Given the description of an element on the screen output the (x, y) to click on. 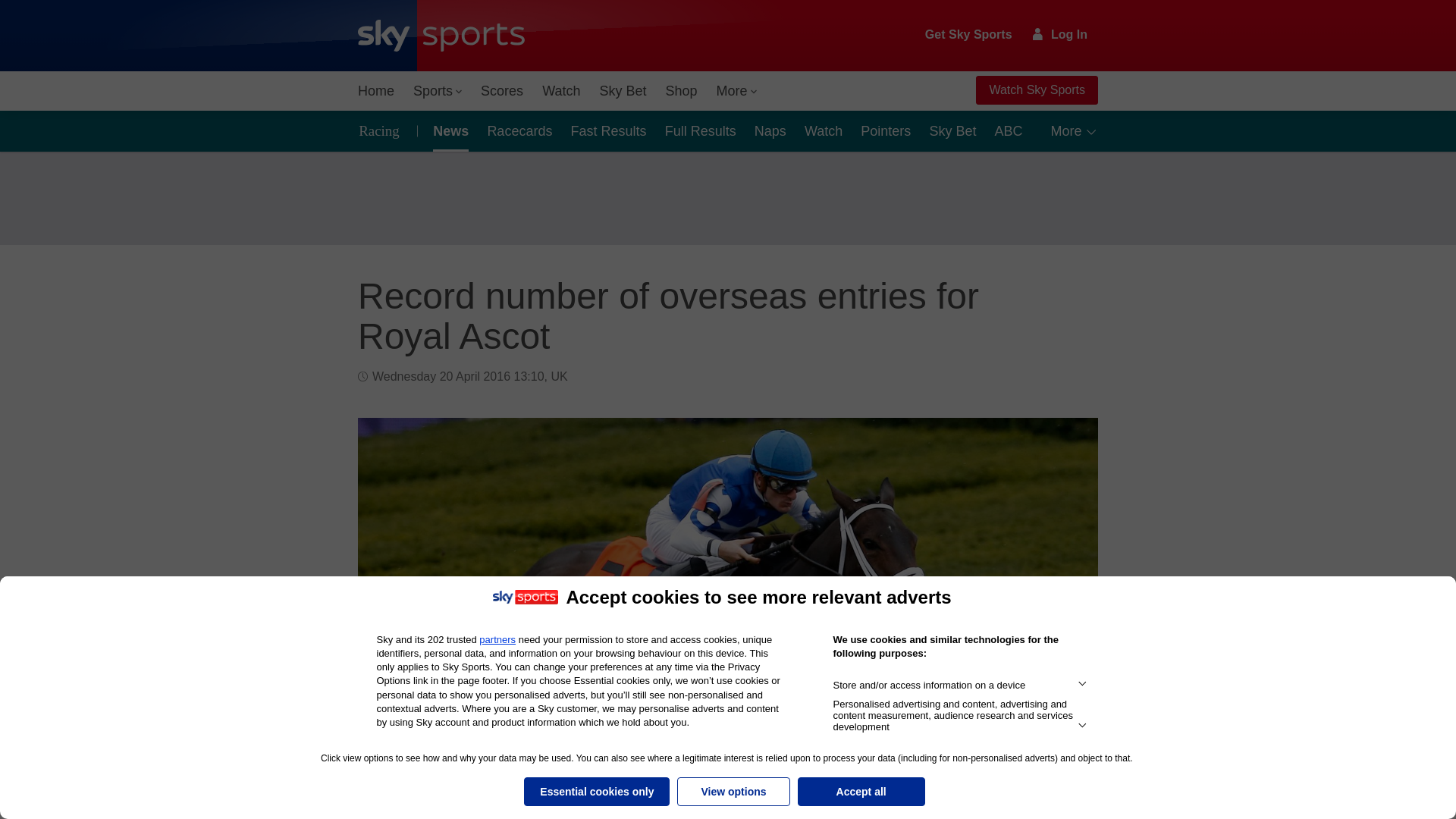
Sky Bet (622, 91)
More (736, 91)
Scores (502, 91)
Sports (437, 91)
Racing (383, 130)
Log In (1060, 33)
Watch (561, 91)
Get Sky Sports (968, 34)
Home (375, 91)
Shop (681, 91)
